Given the description of an element on the screen output the (x, y) to click on. 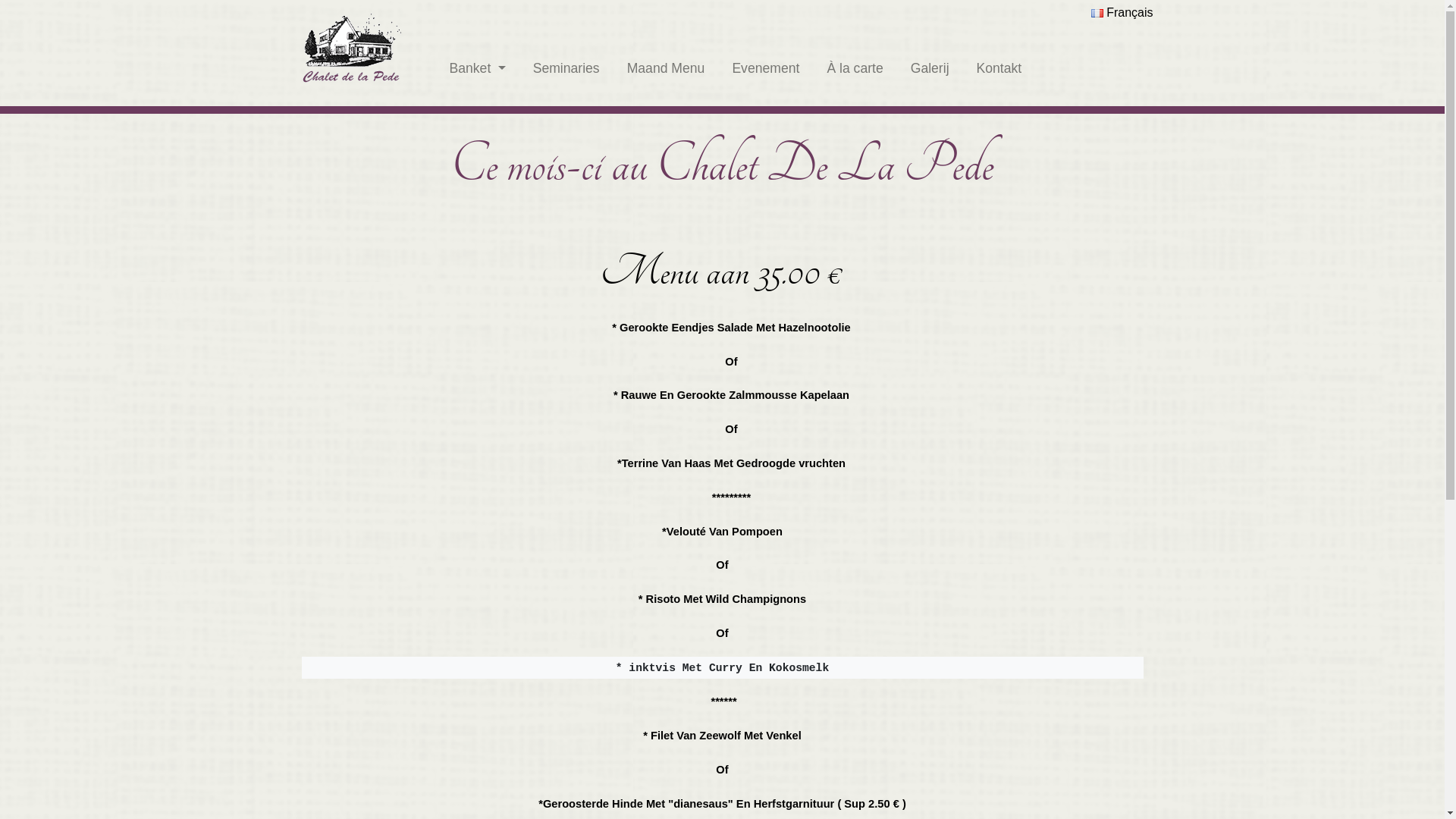
Evenement Element type: text (765, 68)
Kontakt Element type: text (999, 68)
Maand Menu Element type: text (666, 68)
Galerij Element type: text (929, 68)
Seminaries Element type: text (566, 68)
Banket Element type: text (476, 68)
